Given the description of an element on the screen output the (x, y) to click on. 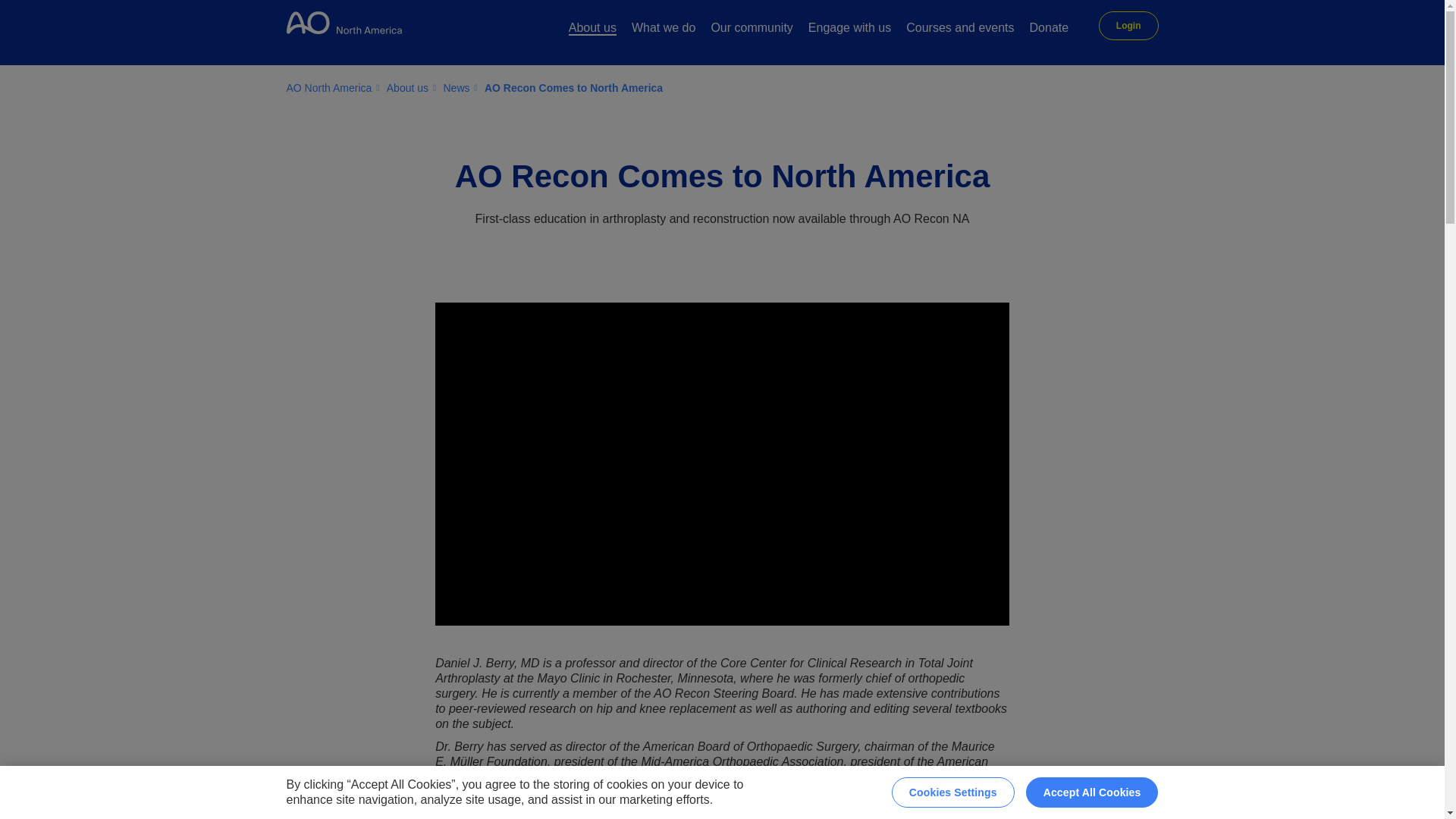
About us (592, 28)
Our community (751, 28)
What we do (663, 28)
About us (592, 28)
What we do (663, 28)
